Given the description of an element on the screen output the (x, y) to click on. 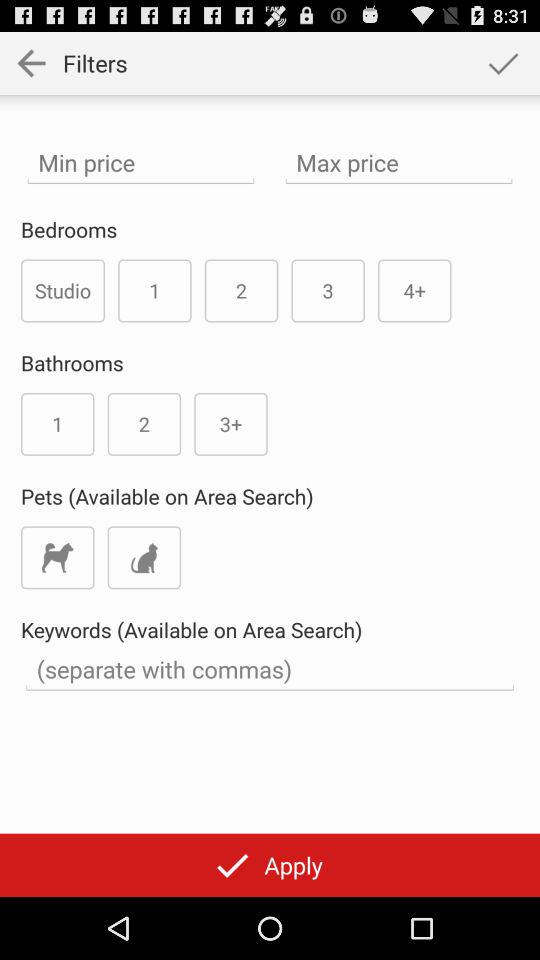
select cats (144, 557)
